Given the description of an element on the screen output the (x, y) to click on. 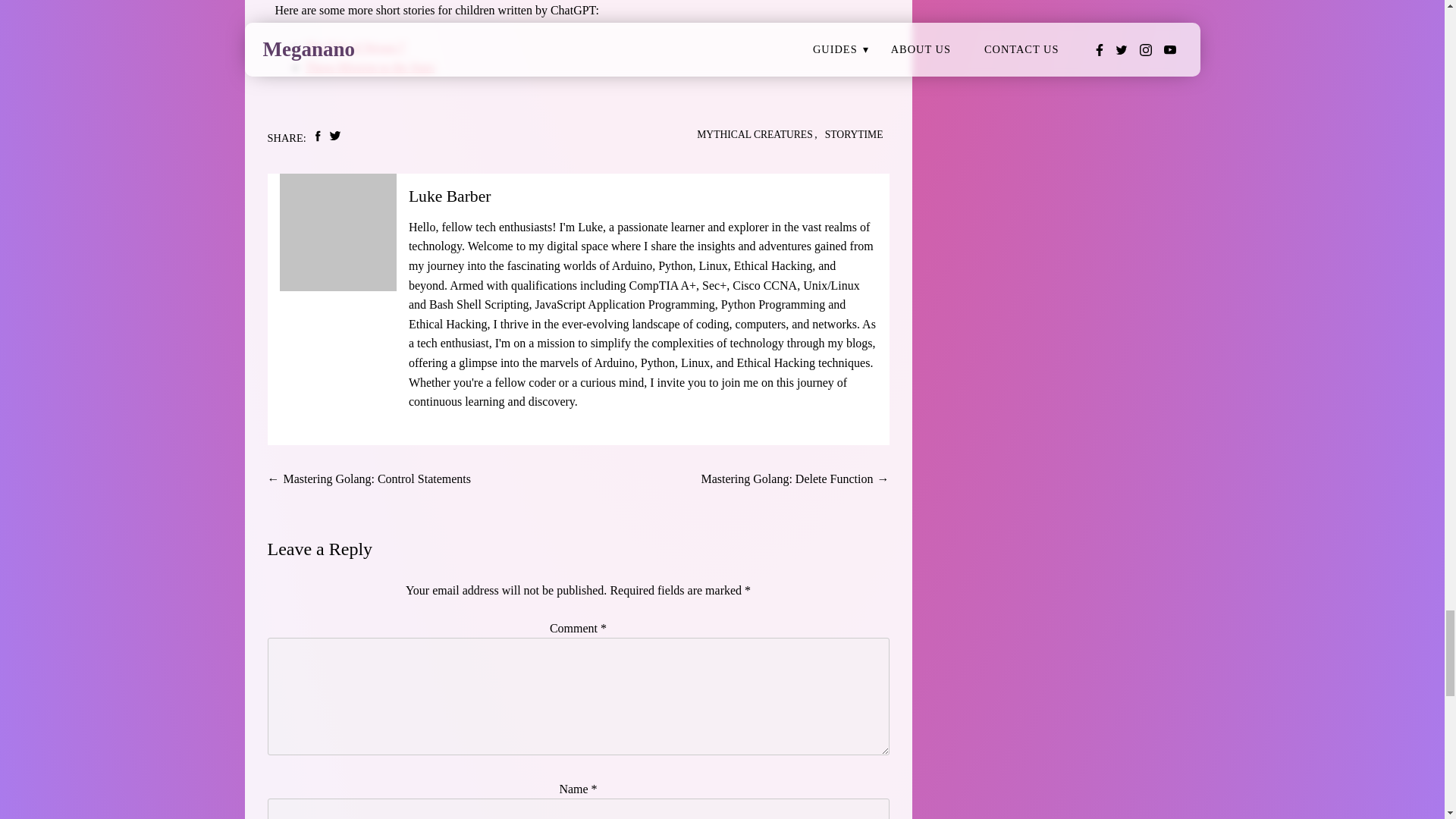
Mastering Golang: Delete Function (786, 478)
MYTHICAL CREATURES (754, 134)
Mastering Golang: Control Statements (377, 478)
Theos Mission to the Stars (368, 66)
STORYTIME (854, 134)
The Tale of Nexus-7 (354, 47)
Luke Barber (450, 196)
